Given the description of an element on the screen output the (x, y) to click on. 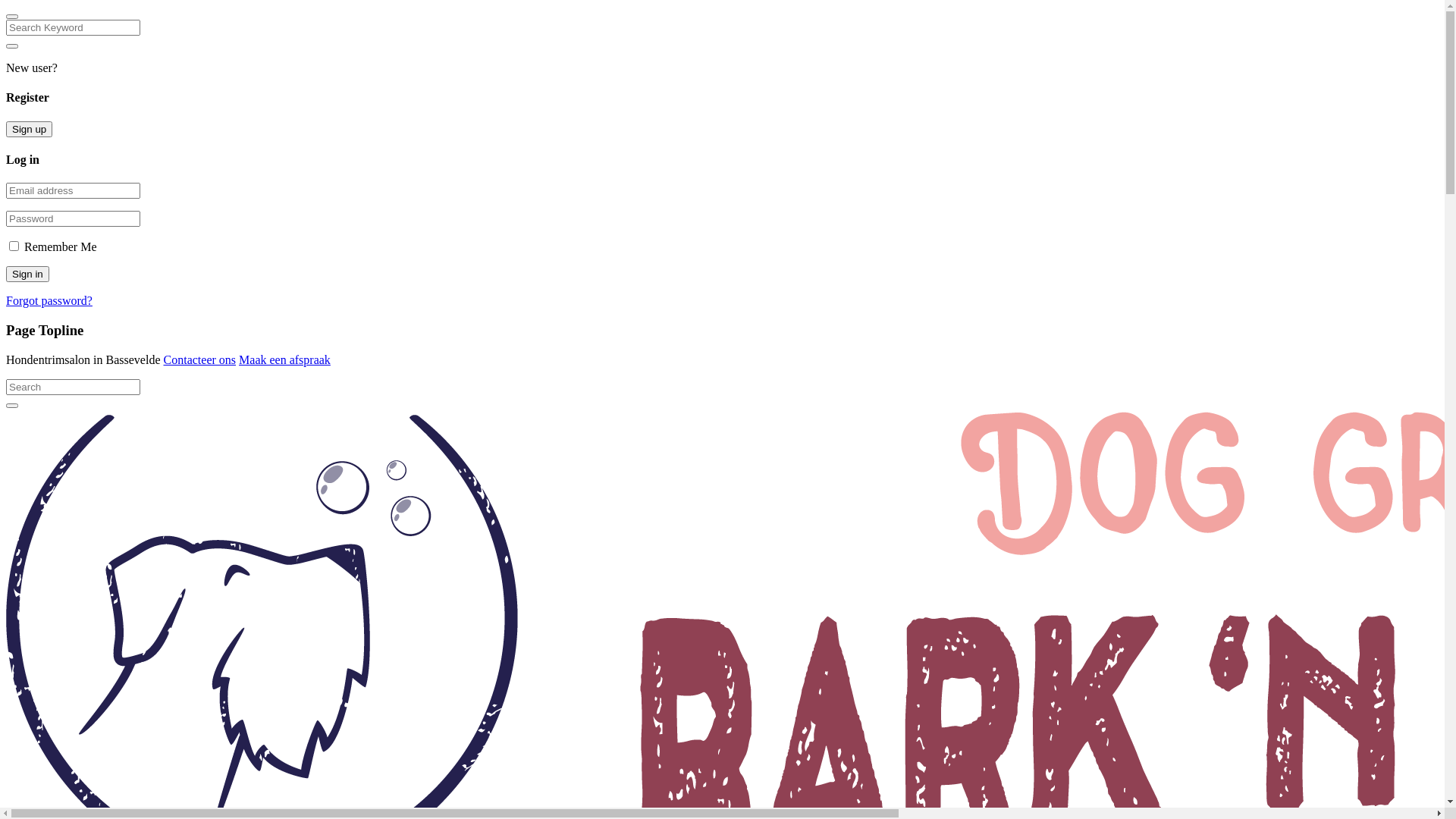
Contacteer ons Element type: text (199, 359)
Search for: Element type: hover (73, 27)
Sign in Element type: text (27, 274)
Search Element type: text (12, 405)
Maak een afspraak Element type: text (284, 359)
Search Element type: text (12, 45)
Forgot password? Element type: text (49, 300)
Search for: Element type: hover (73, 387)
Sign up Element type: text (29, 129)
